Given the description of an element on the screen output the (x, y) to click on. 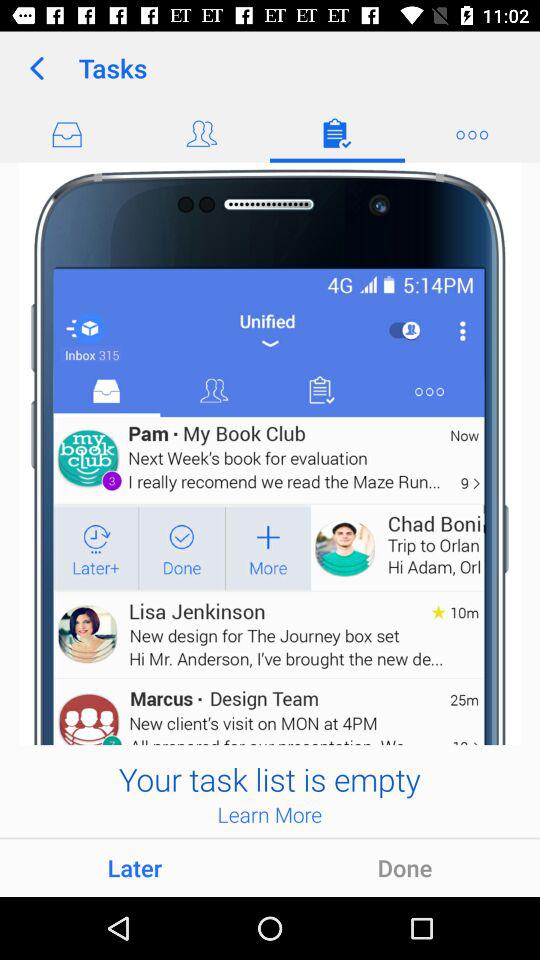
click icon next to the tasks app (36, 68)
